Given the description of an element on the screen output the (x, y) to click on. 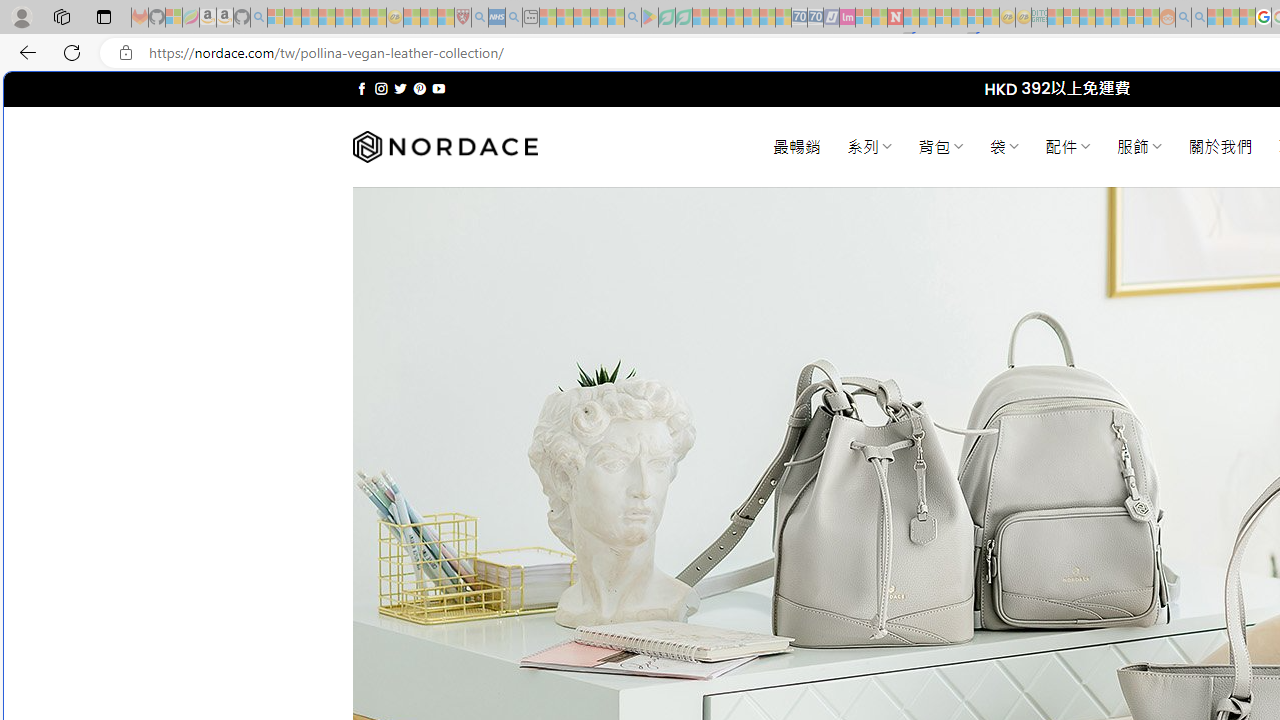
New tab - Sleeping (530, 17)
Robert H. Shmerling, MD - Harvard Health - Sleeping (462, 17)
Microsoft Start - Sleeping (1215, 17)
DITOGAMES AG Imprint - Sleeping (1039, 17)
Microsoft-Report a Concern to Bing - Sleeping (173, 17)
Microsoft account | Privacy - Sleeping (1071, 17)
Follow on Instagram (381, 88)
View site information (125, 53)
